Given the description of an element on the screen output the (x, y) to click on. 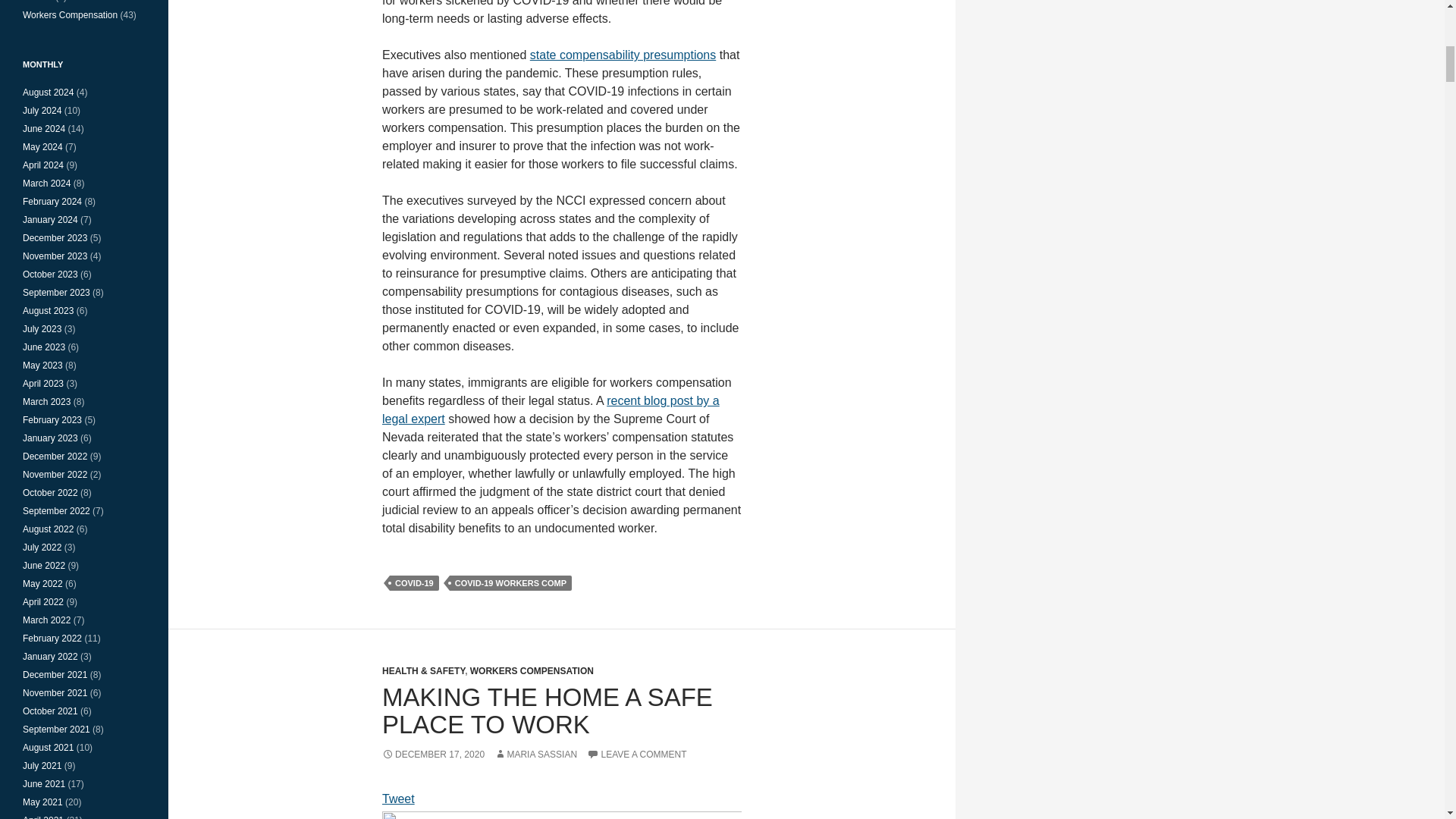
COVID-19 WORKERS COMP (510, 582)
MARIA SASSIAN (535, 754)
DECEMBER 17, 2020 (432, 754)
MAKING THE HOME A SAFE PLACE TO WORK (547, 710)
recent blog post by a legal expert (550, 409)
COVID-19 (414, 582)
WORKERS COMPENSATION (532, 670)
state compensability presumptions (622, 54)
LEAVE A COMMENT (635, 754)
Tweet (397, 798)
